Given the description of an element on the screen output the (x, y) to click on. 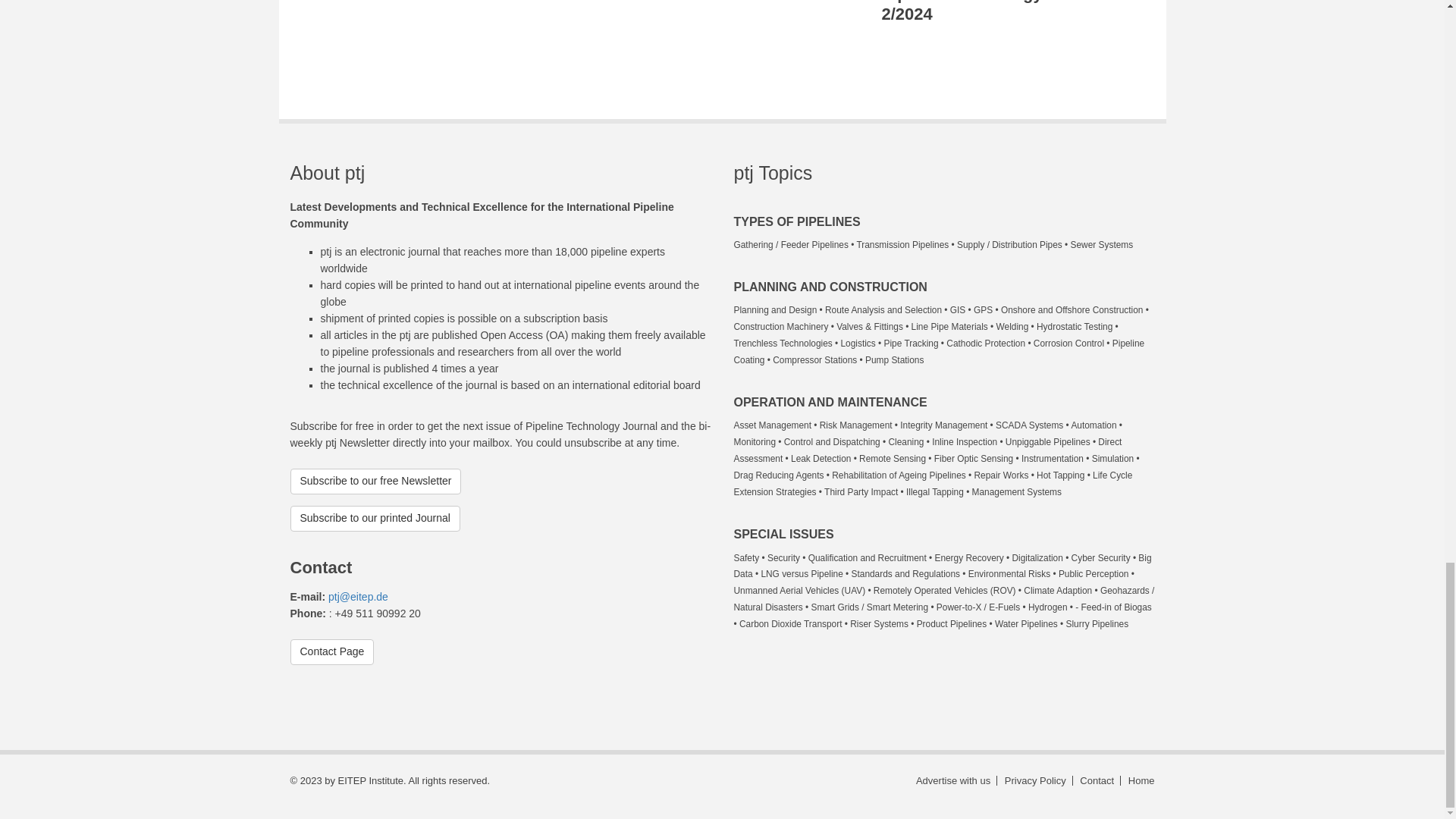
Takes you back to the homepage (1139, 780)
Our Privacy Policy (1036, 780)
Contact us (1098, 780)
Advertise with us (954, 780)
